Given the description of an element on the screen output the (x, y) to click on. 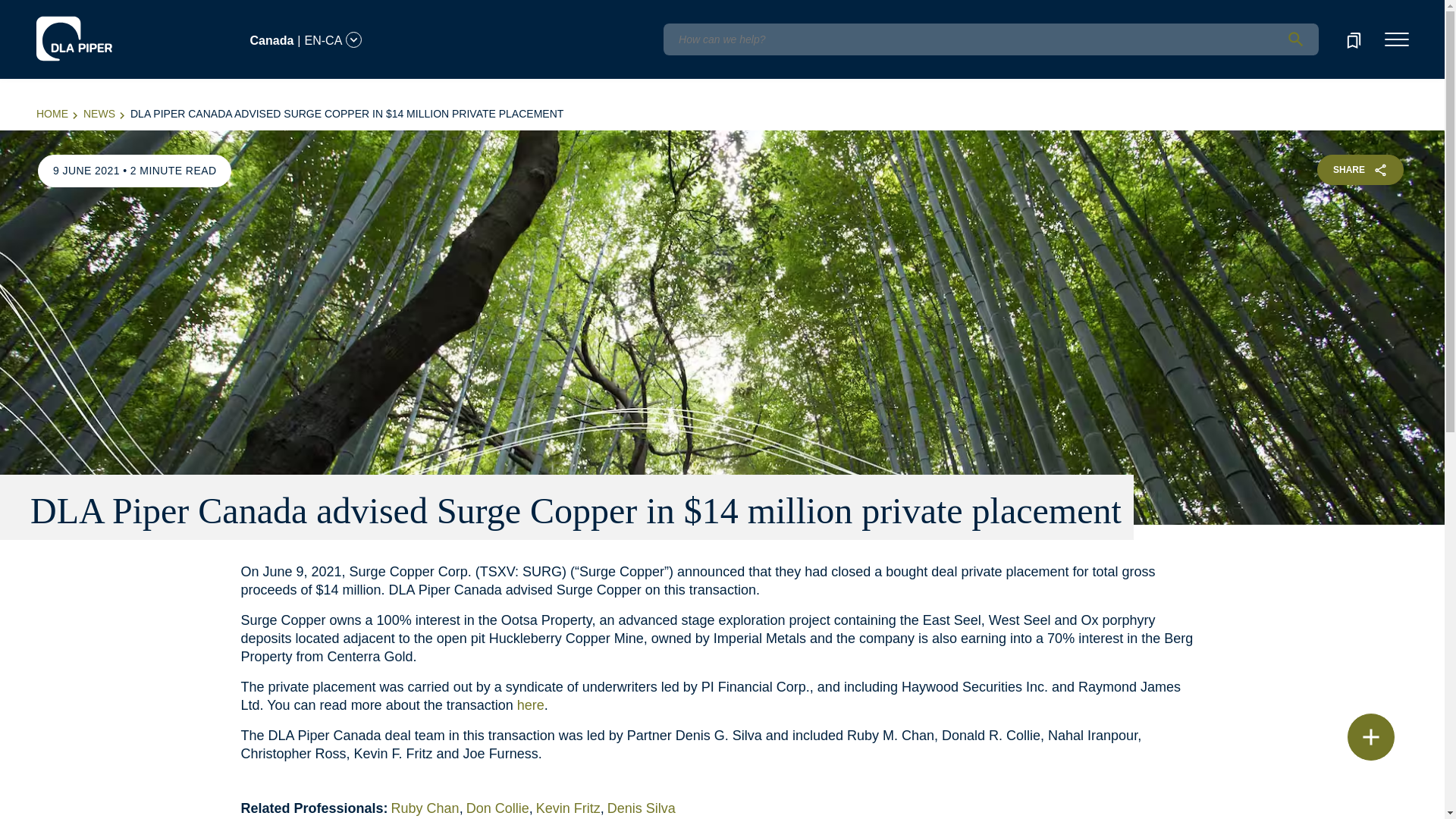
English (115, 11)
English (116, 31)
Deutsch (157, 11)
Insert a query. Press enter to send (990, 39)
